Given the description of an element on the screen output the (x, y) to click on. 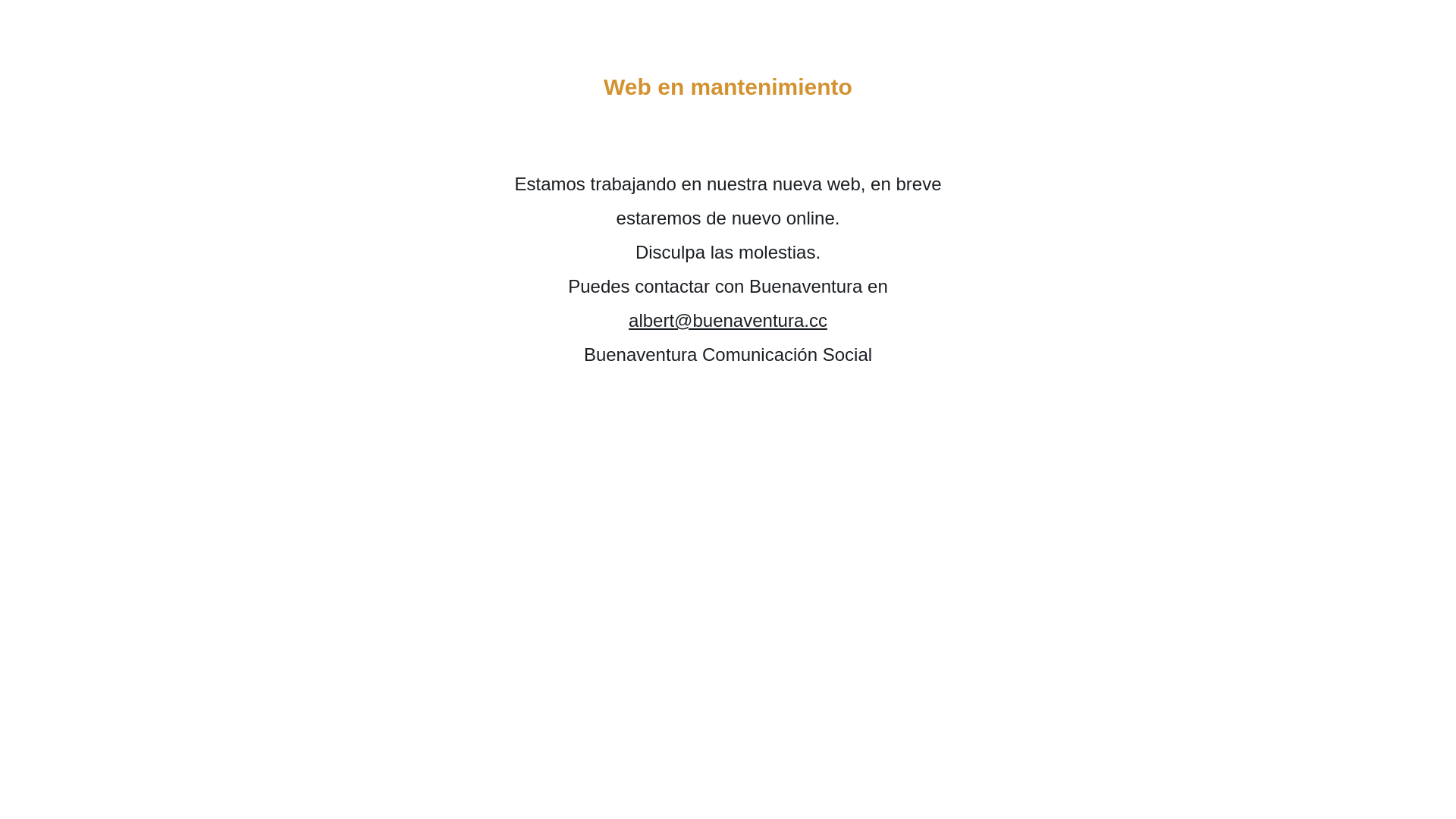
albert@buenaventura.cc Element type: text (727, 320)
